Given the description of an element on the screen output the (x, y) to click on. 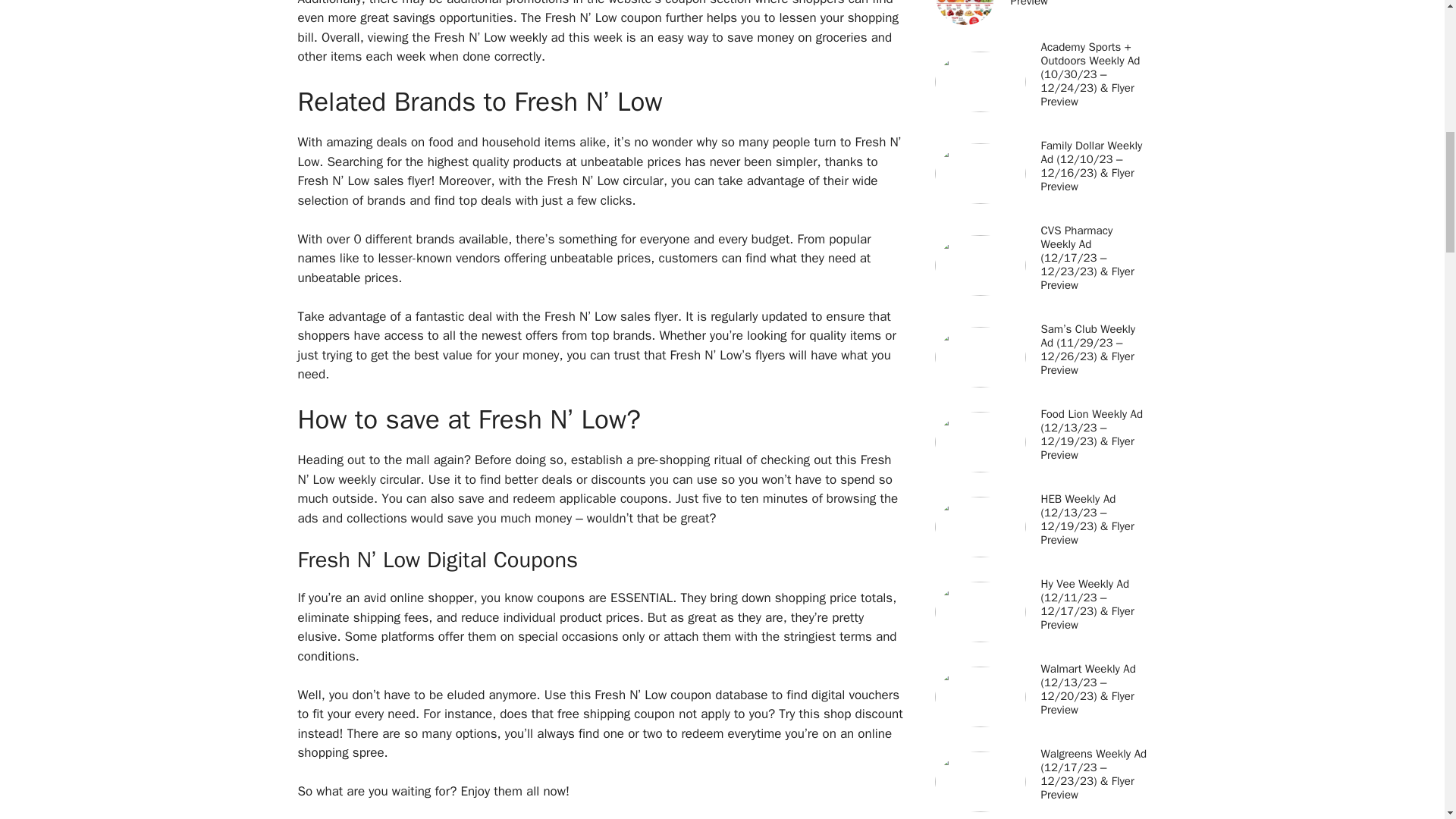
Scroll back to top (1406, 720)
